Given the description of an element on the screen output the (x, y) to click on. 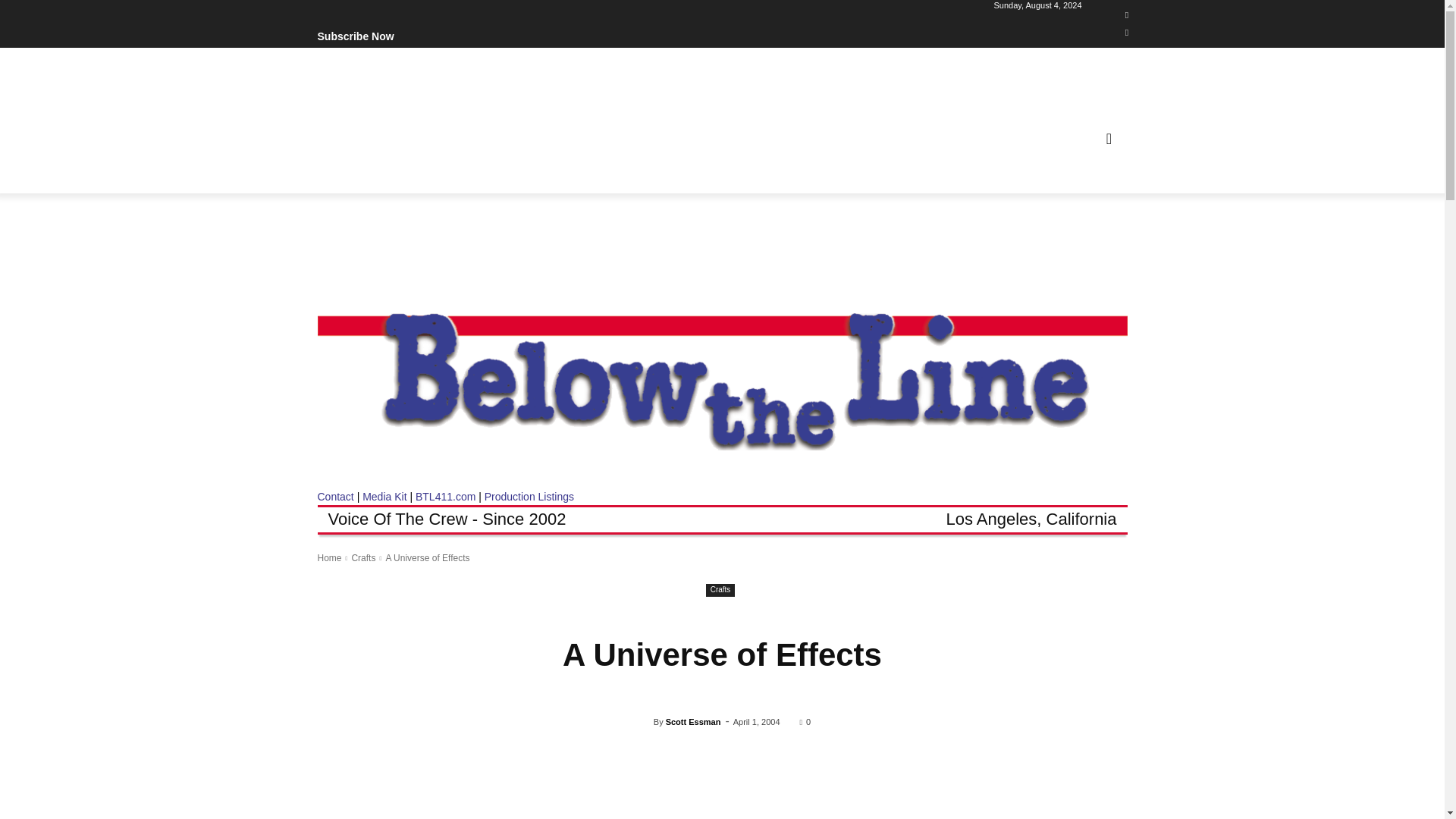
View all posts in Crafts (362, 557)
Twitter (1126, 32)
Facebook (1126, 15)
Scott Essman (643, 721)
